Given the description of an element on the screen output the (x, y) to click on. 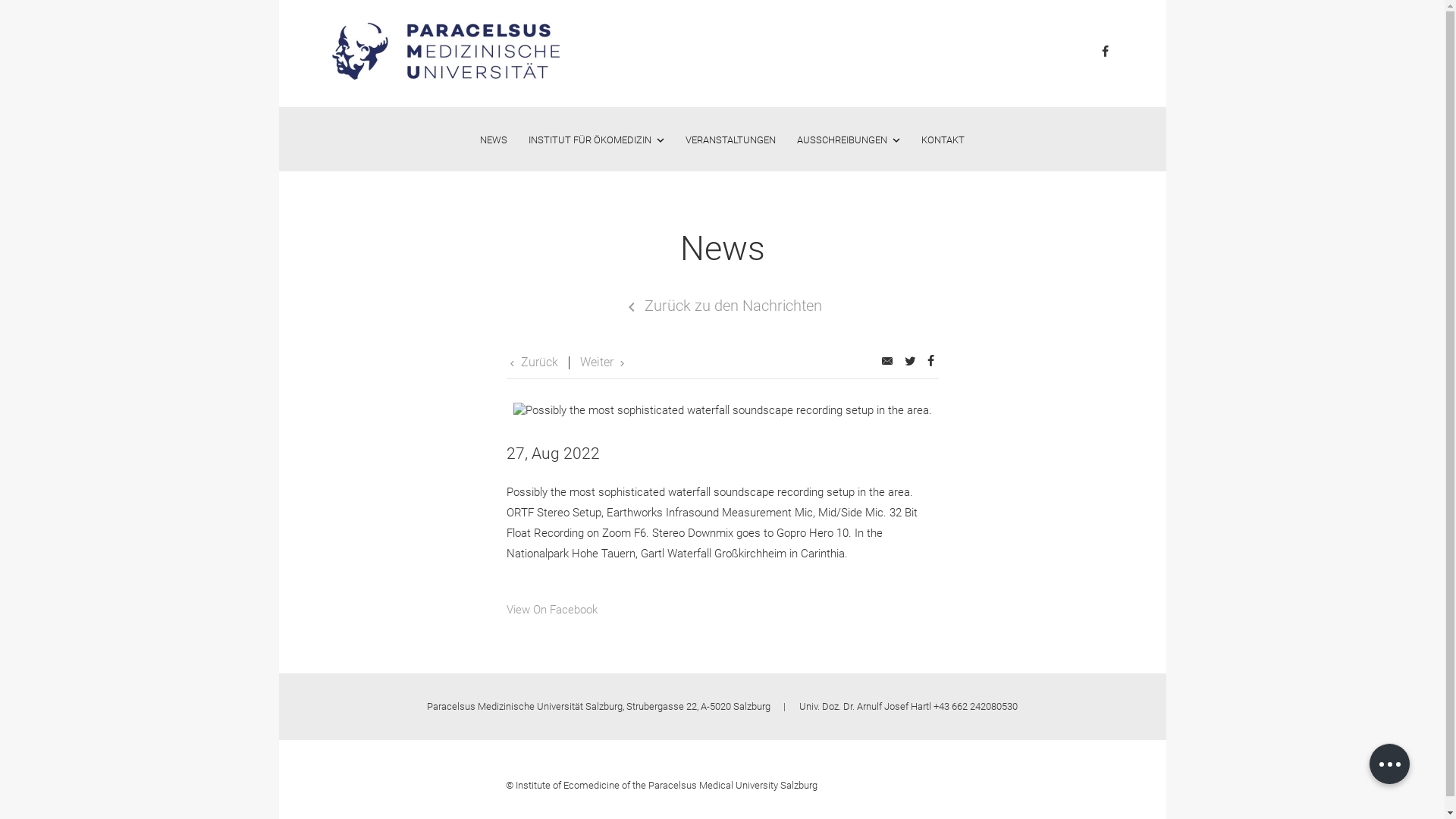
VERANSTALTUNGEN Element type: text (730, 138)
KONTAKT Element type: text (942, 138)
Share by Twitter Element type: hover (909, 362)
NEWS Element type: text (493, 138)
Univ. Doz. Dr. Arnulf Josef Hartl +43 662 242080530 Element type: text (908, 706)
View On Facebook Element type: text (551, 609)
Share by Email Element type: hover (886, 362)
Facebook Element type: hover (1104, 52)
Share by Facebook Element type: hover (930, 362)
